Given the description of an element on the screen output the (x, y) to click on. 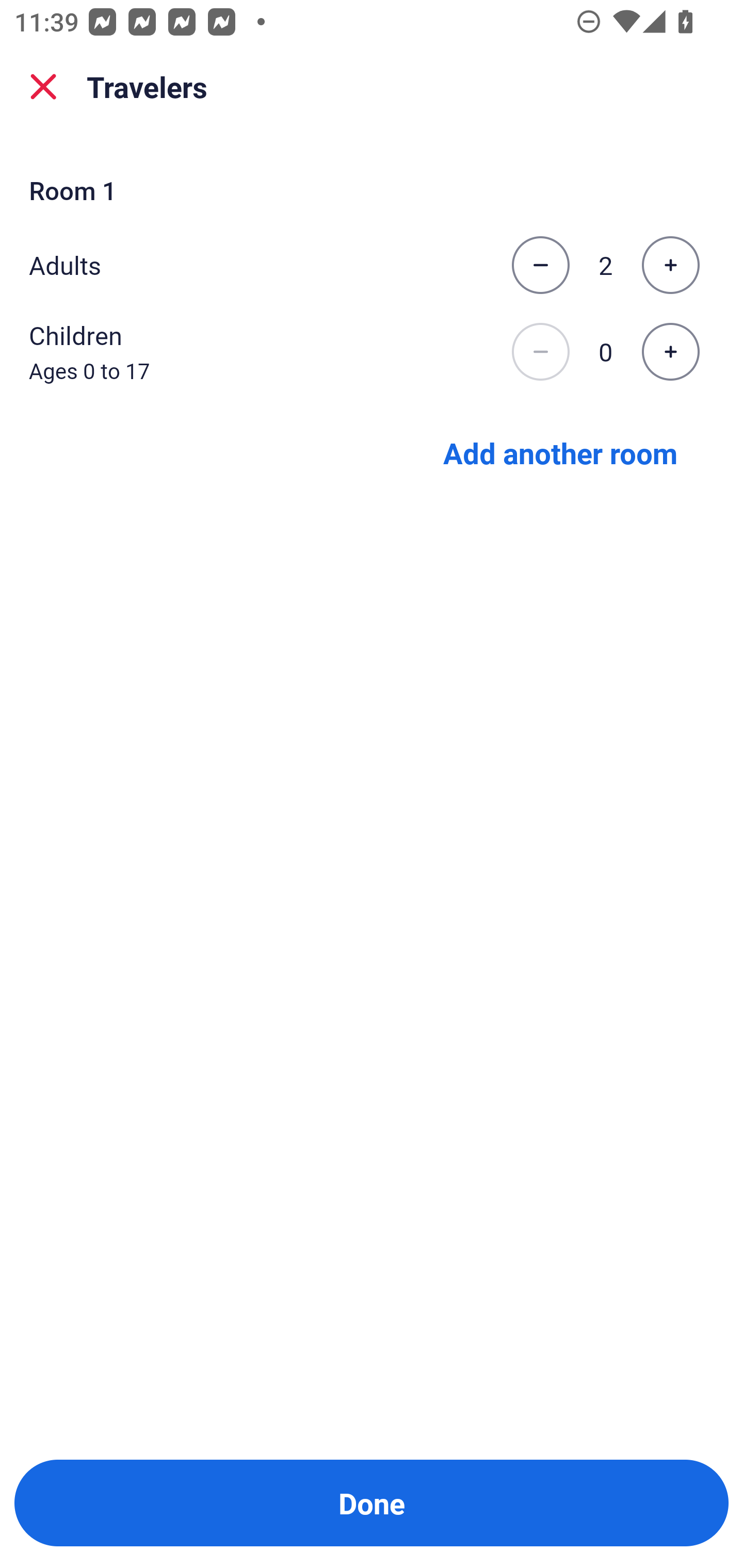
close (43, 86)
Decrease the number of adults (540, 264)
Increase the number of adults (670, 264)
Decrease the number of children (540, 351)
Increase the number of children (670, 351)
Add another room (560, 452)
Done (371, 1502)
